Given the description of an element on the screen output the (x, y) to click on. 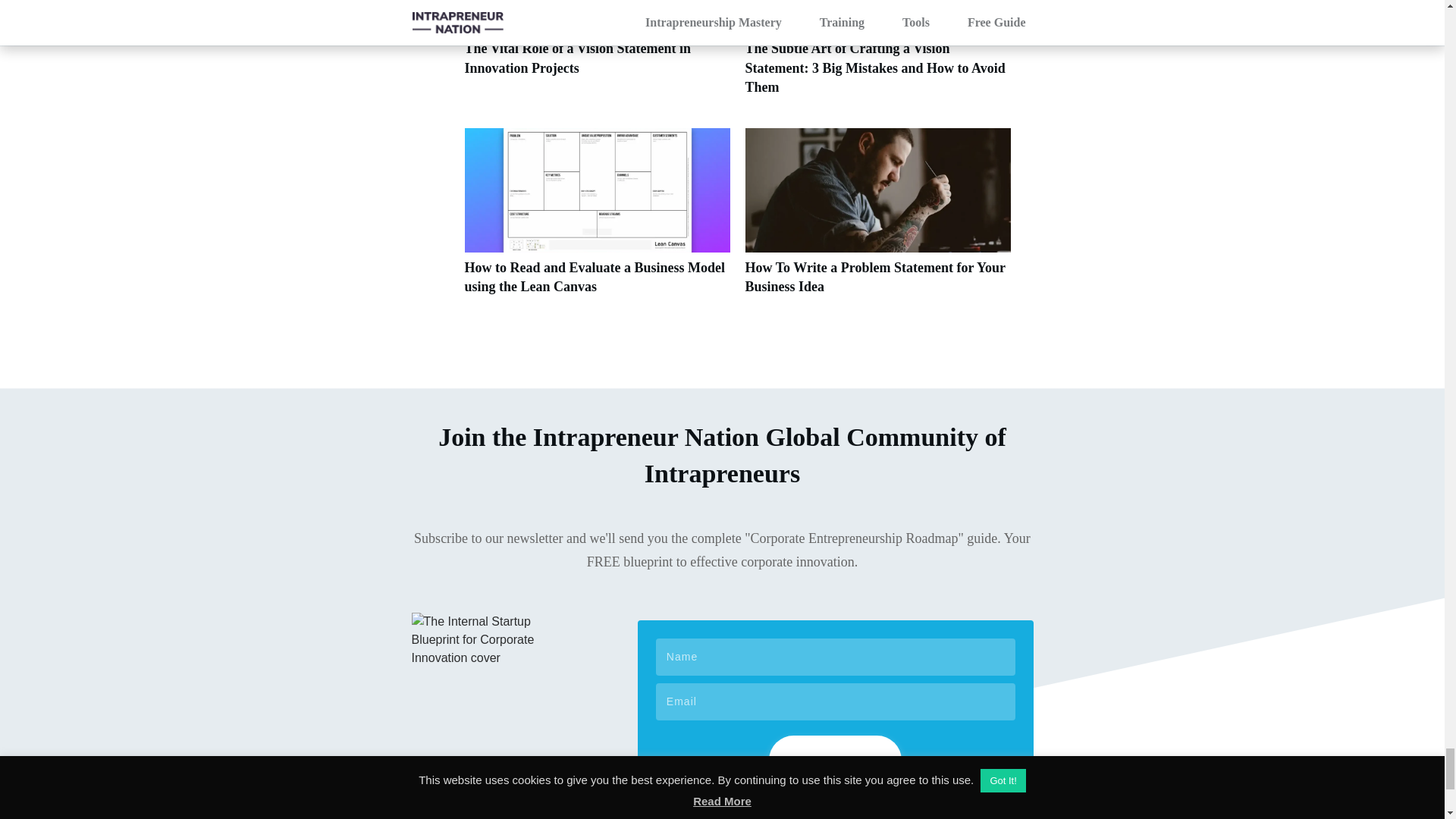
The Vital Role of a Vision Statement in Innovation Projects (596, 56)
How To Write a Problem Statement for Your Business Idea (874, 277)
The Vital Role of a Vision Statement in Innovation Projects (577, 57)
How To Write a Problem Statement for Your Business Idea (877, 219)
SIGN UP (834, 760)
